Given the description of an element on the screen output the (x, y) to click on. 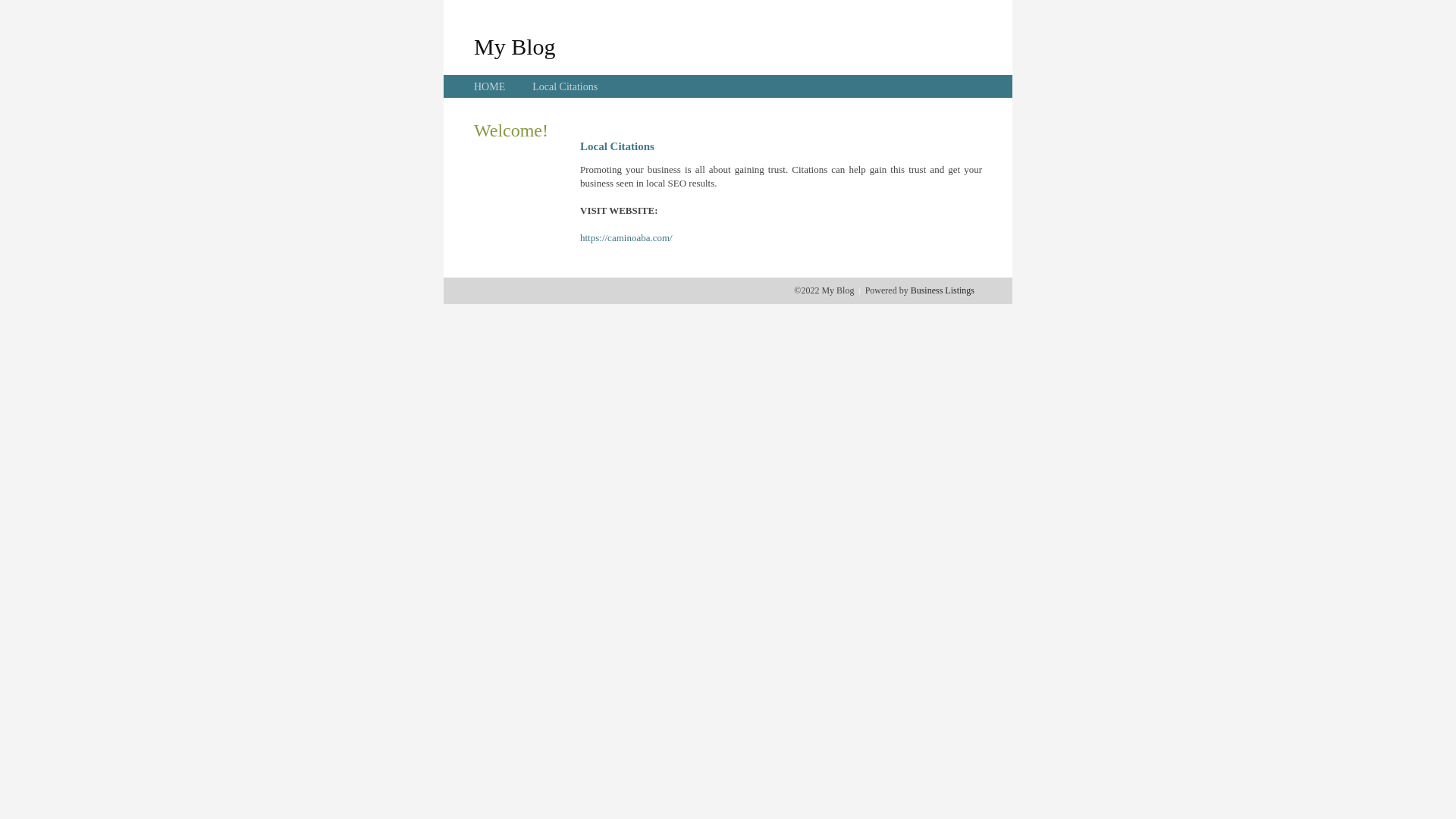
https://caminoaba.com/ Element type: text (626, 237)
Local Citations Element type: text (564, 86)
My Blog Element type: text (514, 46)
HOME Element type: text (489, 86)
Business Listings Element type: text (942, 290)
